Given the description of an element on the screen output the (x, y) to click on. 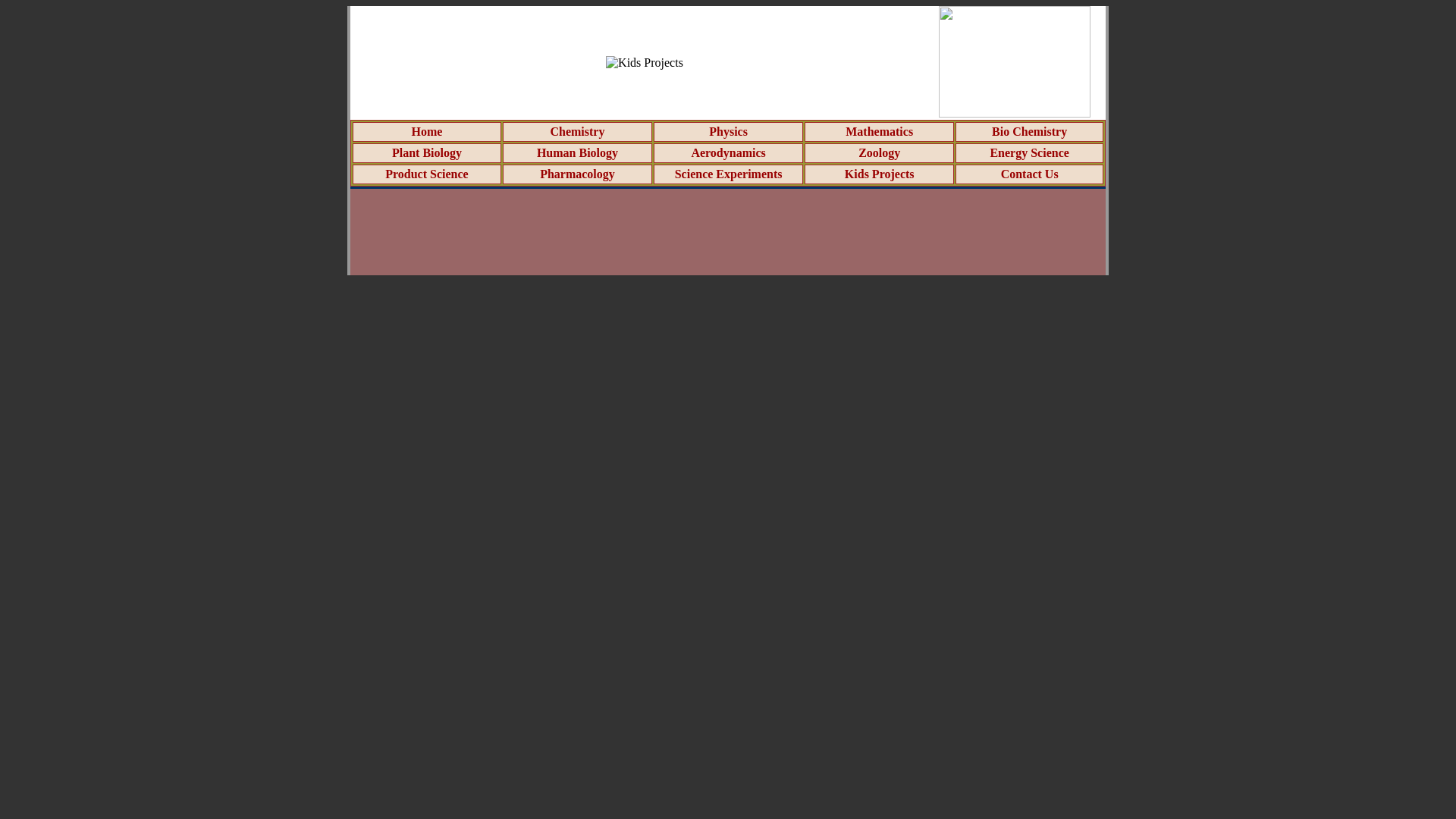
Pharmacology (577, 173)
Bio Chemistry (1029, 131)
Energy Science (1029, 152)
Kids Projects (879, 173)
Chemistry (577, 131)
Aerodynamics (727, 152)
Human Biology (577, 152)
Home (427, 131)
Physics (728, 131)
Zoology (879, 152)
Product Science (426, 173)
Mathematics (878, 131)
Science Experiments (729, 173)
Plant Biology (426, 152)
Contact Us (1029, 173)
